Given the description of an element on the screen output the (x, y) to click on. 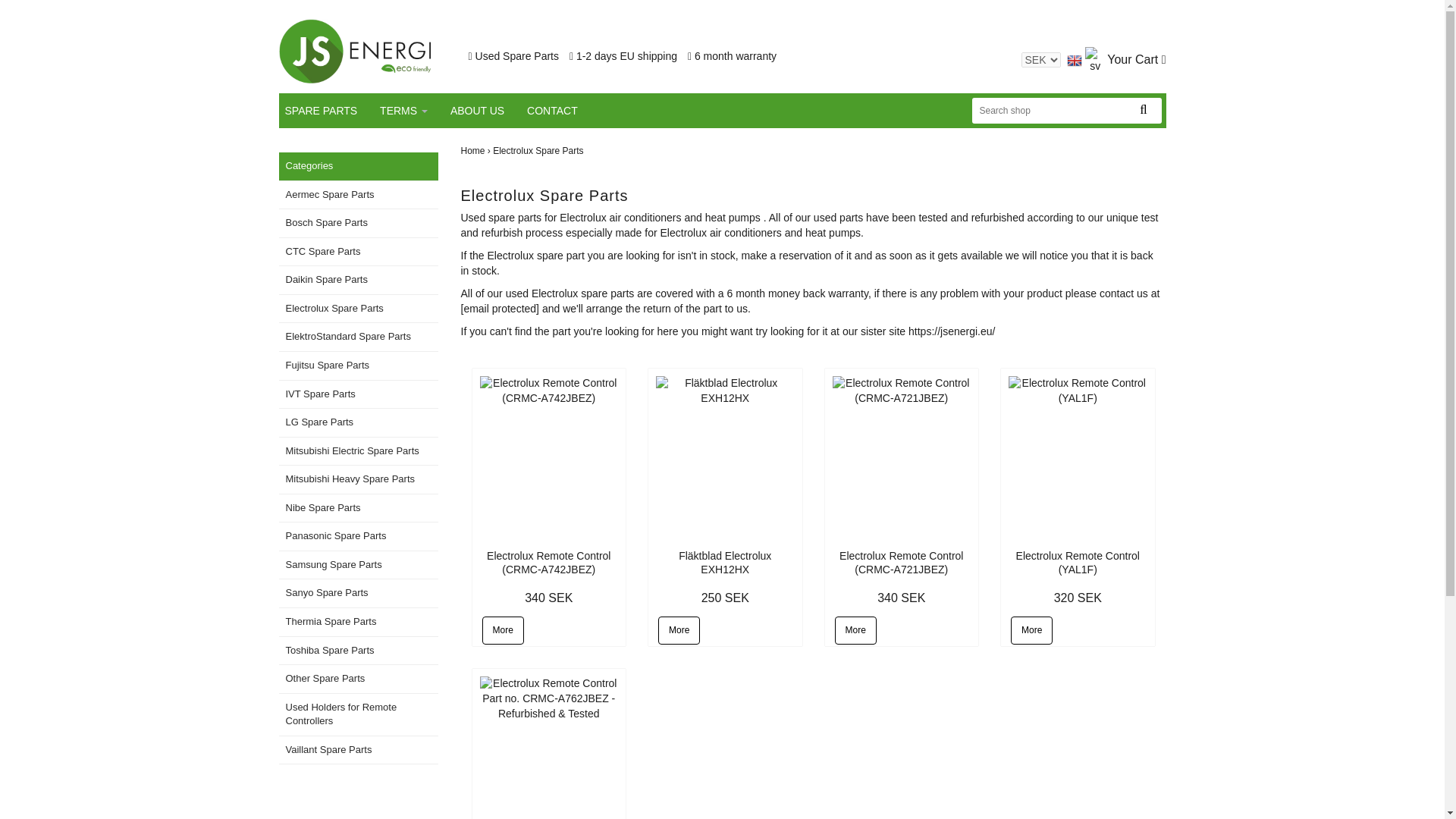
SPARE PARTS (330, 110)
TERMS (412, 110)
JS Energi Eco - Used Spare Parts (354, 50)
Terms (412, 110)
Spare Parts (330, 110)
Contact (561, 110)
Home (475, 150)
About Us (485, 110)
Electrolux Spare Parts (539, 150)
Your Cart (1136, 59)
